Given the description of an element on the screen output the (x, y) to click on. 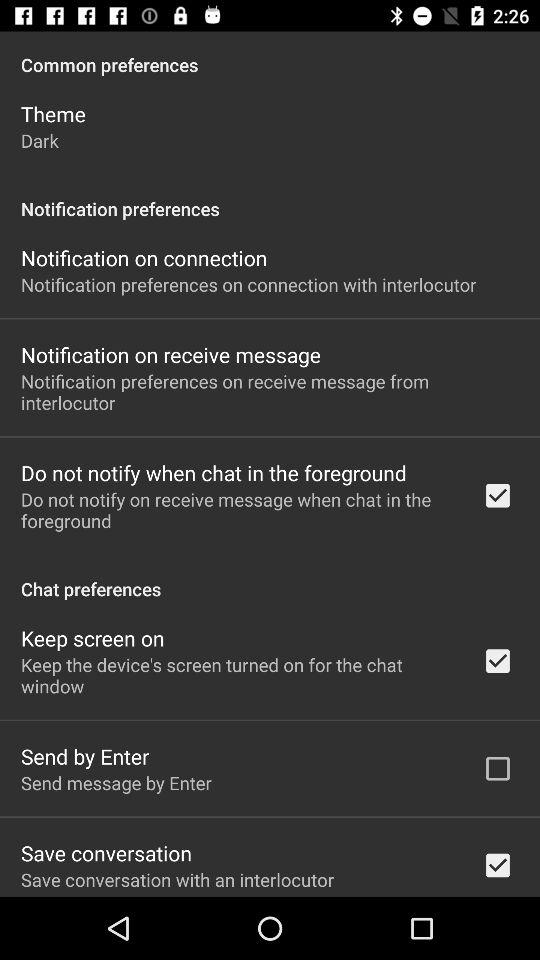
open the icon above the keep screen on app (270, 578)
